Given the description of an element on the screen output the (x, y) to click on. 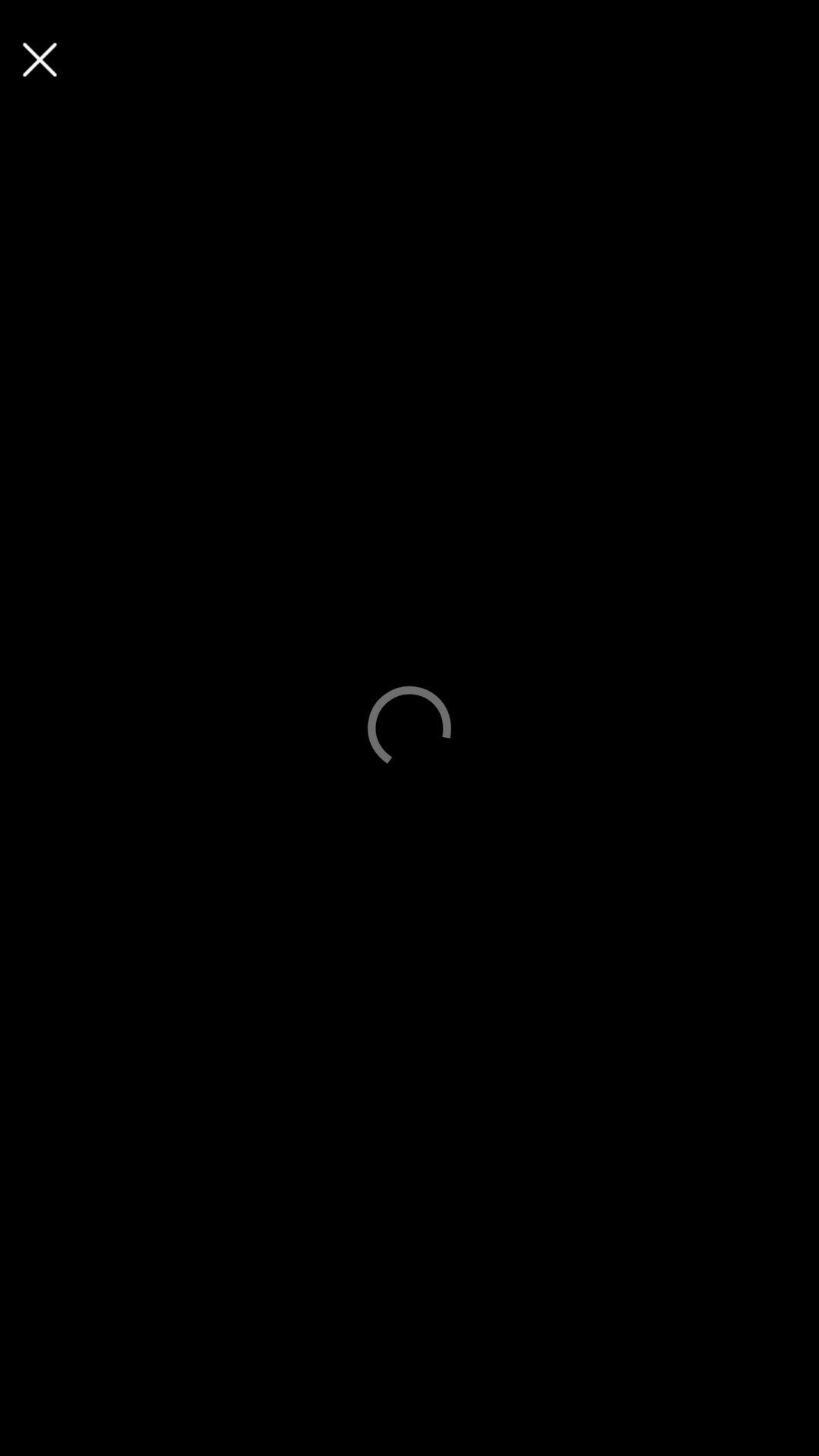
close button (39, 59)
